Given the description of an element on the screen output the (x, y) to click on. 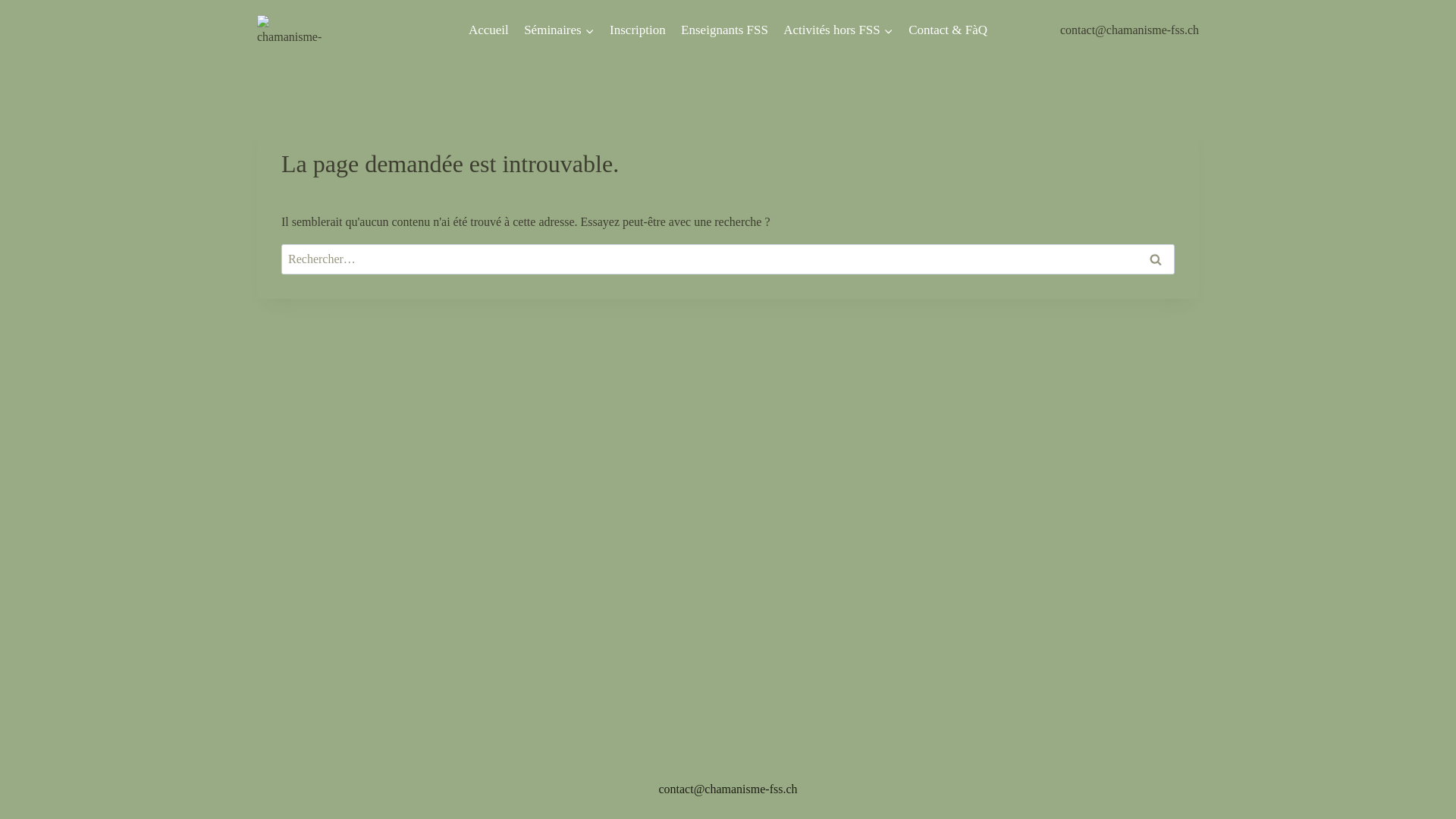
Skip to content Element type: text (0, 0)
contact@chamanisme-fss.ch Element type: text (727, 788)
Rechercher Element type: text (1155, 259)
Accueil Element type: text (488, 30)
Inscription Element type: text (637, 30)
Enseignants FSS Element type: text (724, 30)
